Given the description of an element on the screen output the (x, y) to click on. 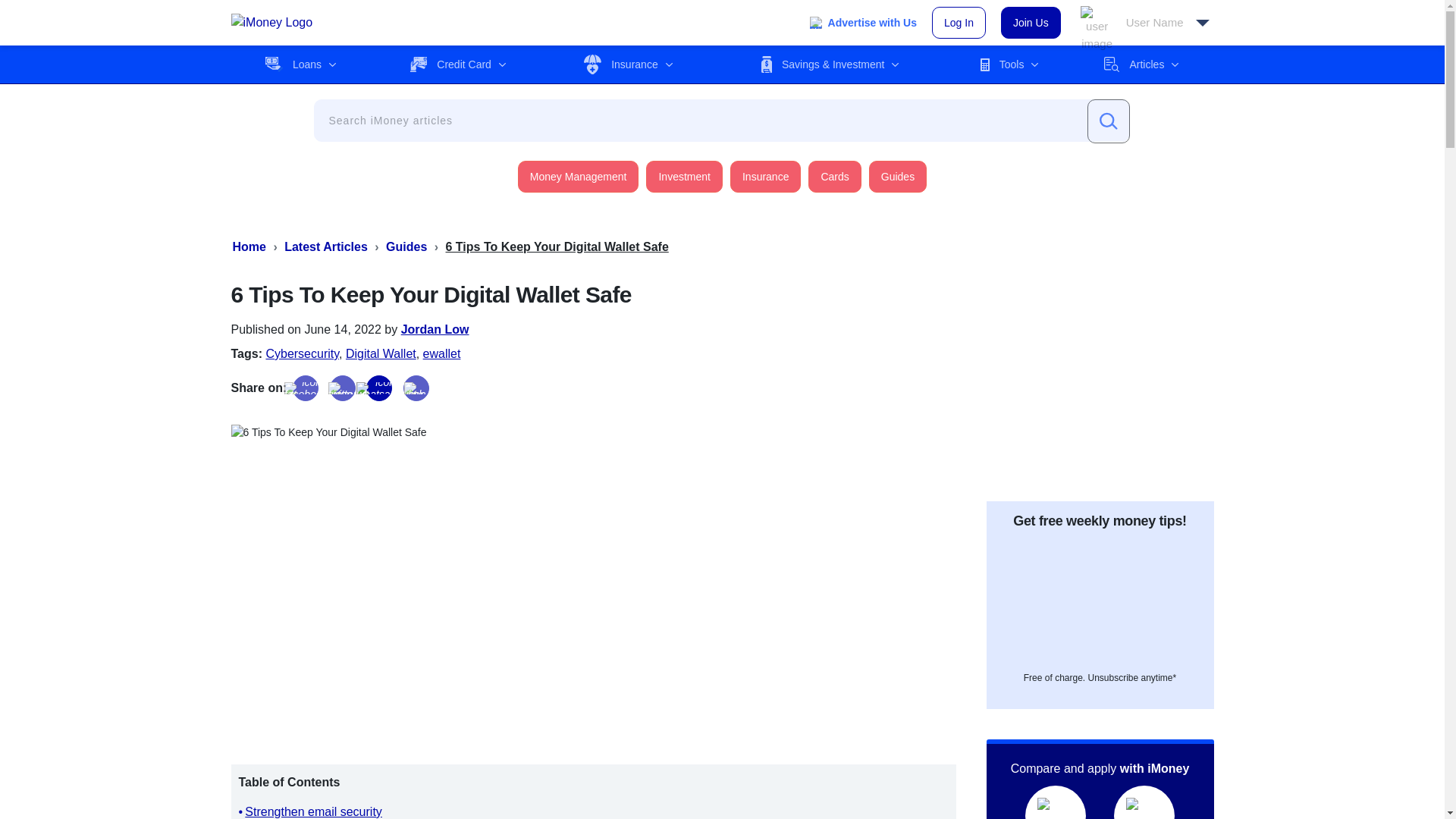
iMoney (271, 22)
Twitter (342, 388)
Credit Card (457, 64)
Facebook (305, 388)
Join Us (1031, 22)
Loans (299, 64)
Strengthen email security (312, 811)
Posts by Jordan Low (434, 328)
Advertise with Us (863, 23)
Log In (958, 22)
